Given the description of an element on the screen output the (x, y) to click on. 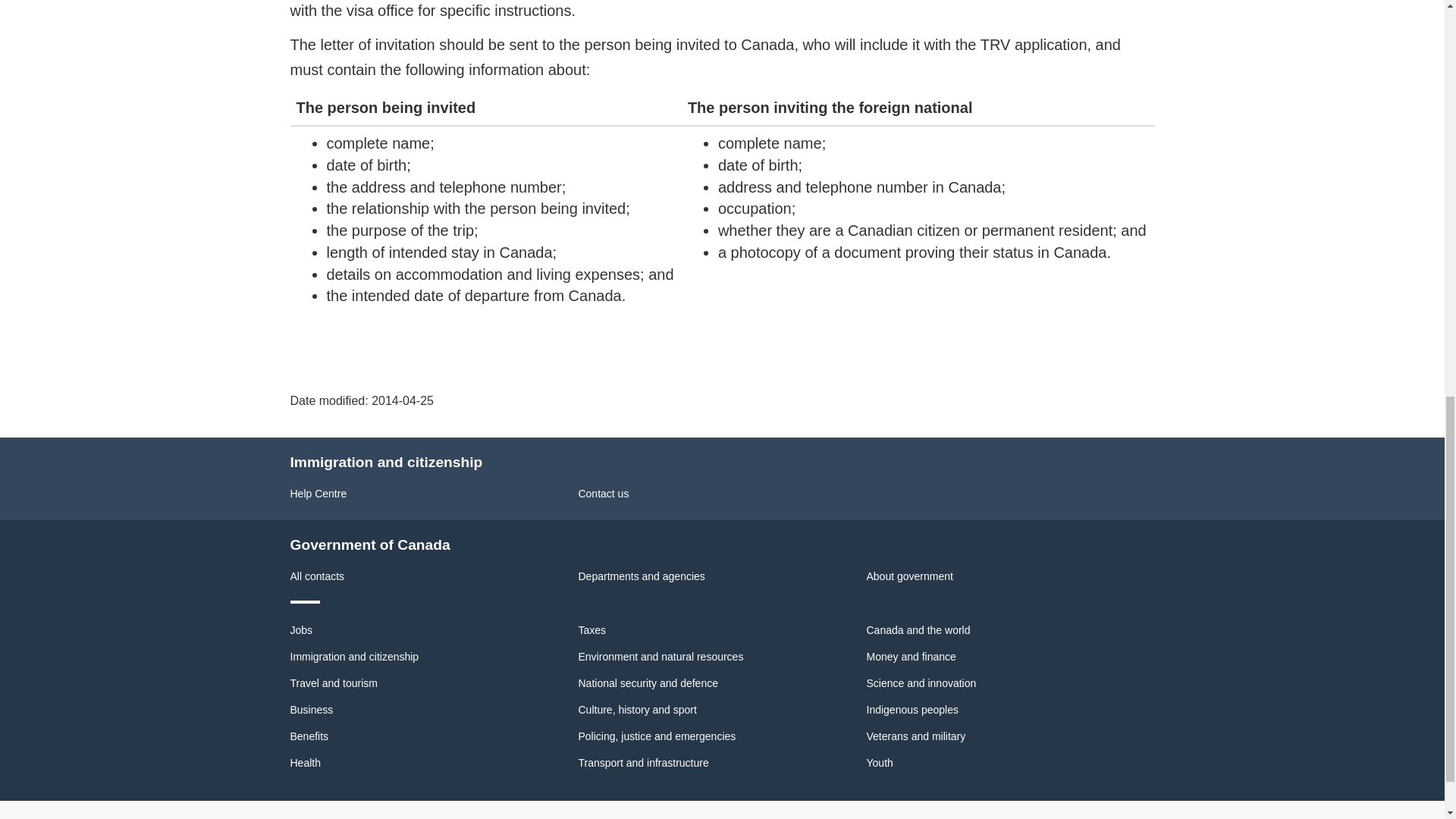
Immigration and citizenship (354, 656)
Help Centre (317, 493)
Jobs (301, 630)
Departments and agencies (641, 576)
All contacts (316, 576)
About government (909, 576)
Travel and tourism (333, 683)
Benefits (309, 736)
Business (311, 709)
Contact us (603, 493)
